Given the description of an element on the screen output the (x, y) to click on. 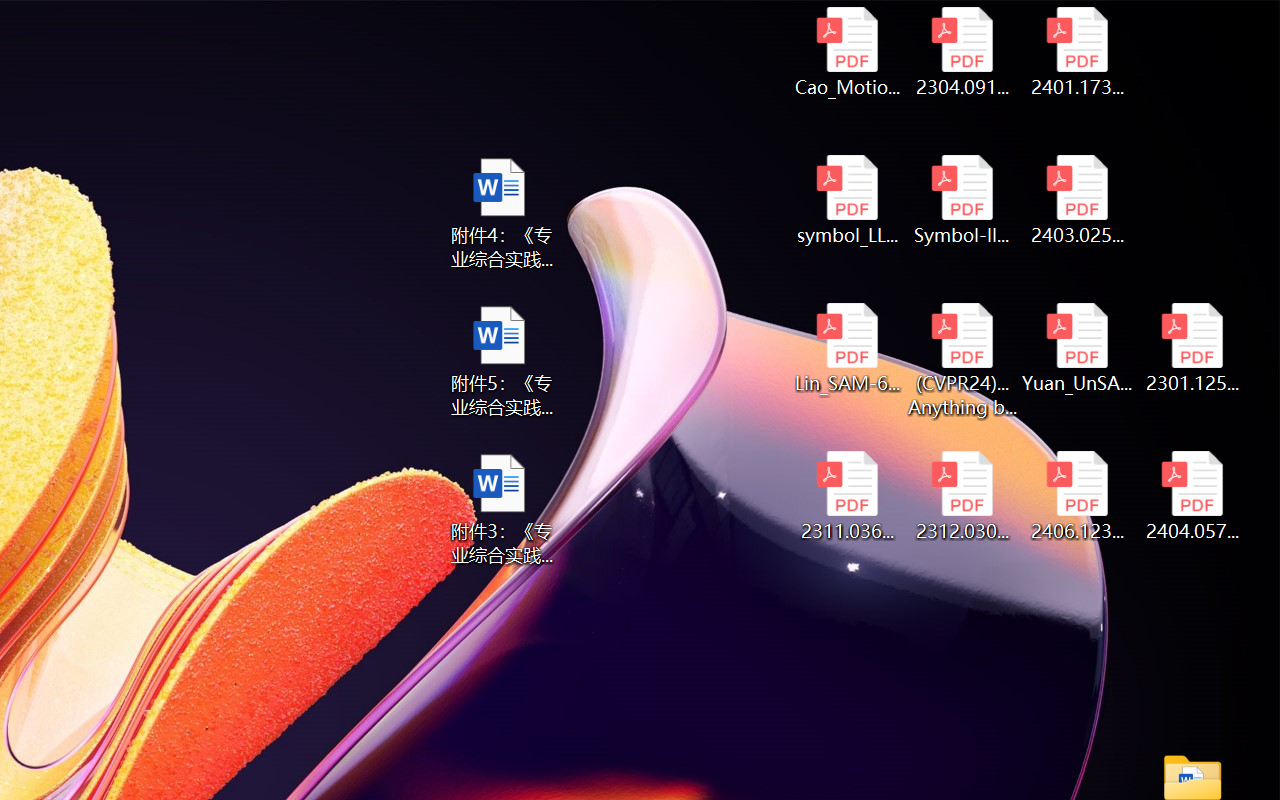
2312.03032v2.pdf (962, 496)
